Given the description of an element on the screen output the (x, y) to click on. 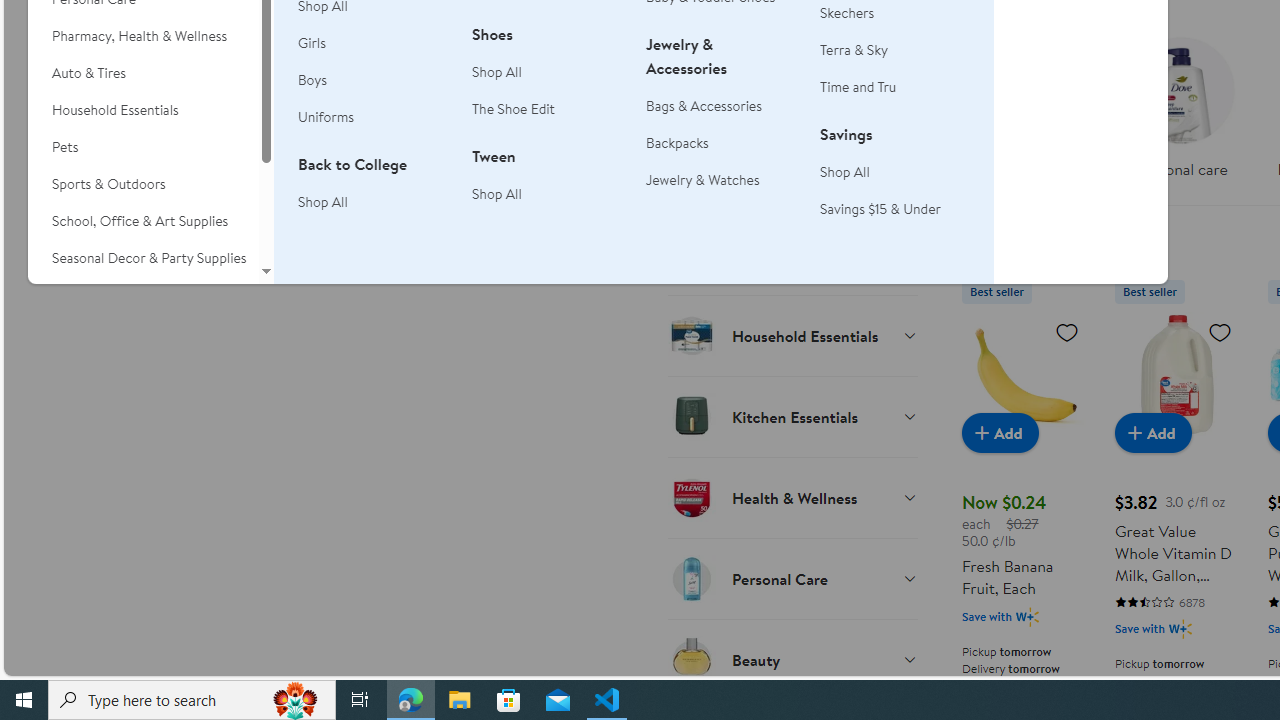
Personal care (1180, 114)
Savings $15 & Under (895, 209)
Terra & Sky (854, 49)
Bags & Accessories (721, 105)
Kitchen Essentials (792, 416)
School, Office & Art Supplies (143, 221)
Household essentials (1024, 114)
Backpacks (677, 142)
School, Office & Art Supplies (143, 221)
Bags & Accessories (703, 105)
